Given the description of an element on the screen output the (x, y) to click on. 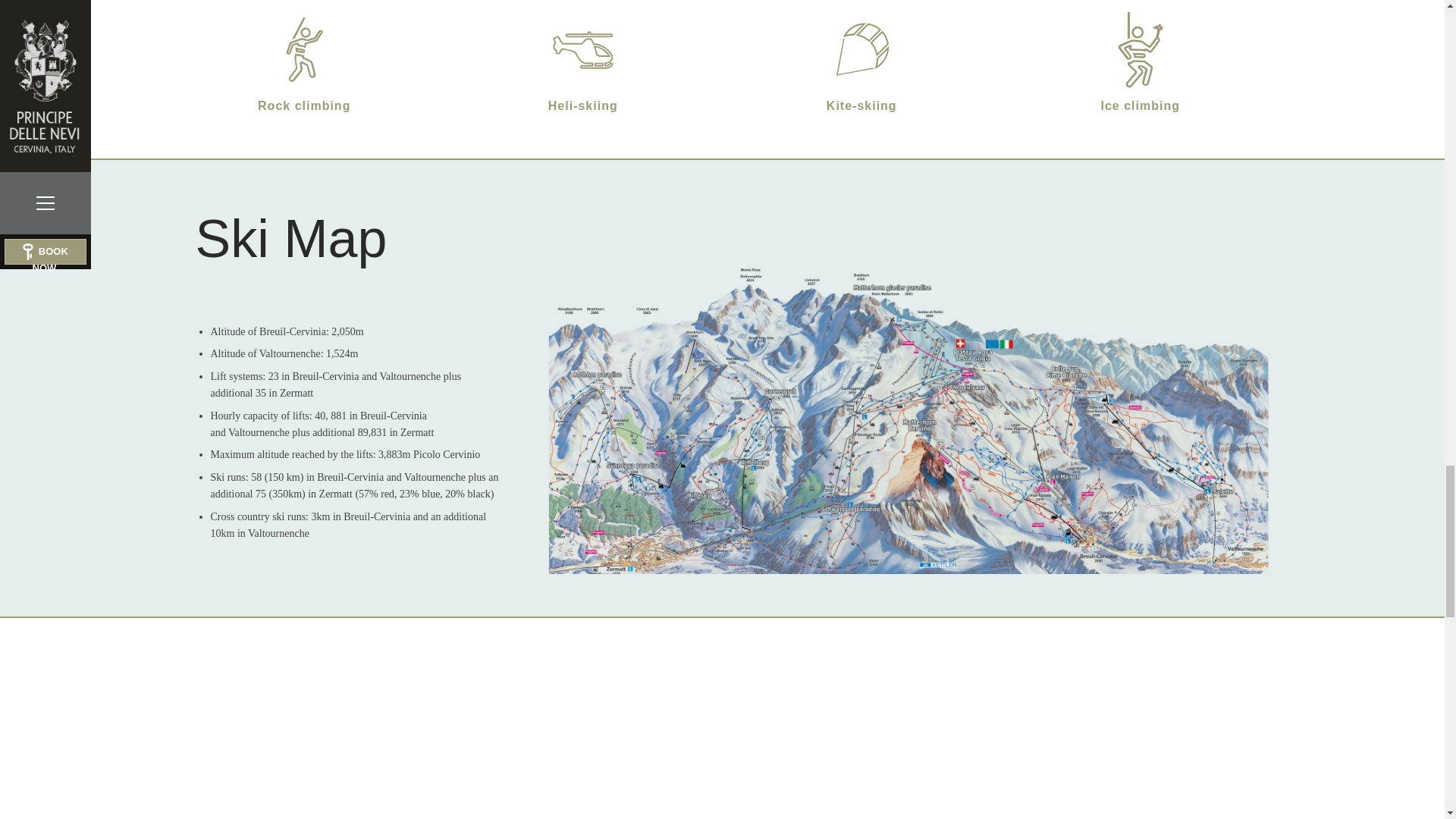
Ice climbing (1139, 49)
Heli-skiing (582, 49)
Kite-skiing (861, 49)
Rock climbing (304, 49)
